Given the description of an element on the screen output the (x, y) to click on. 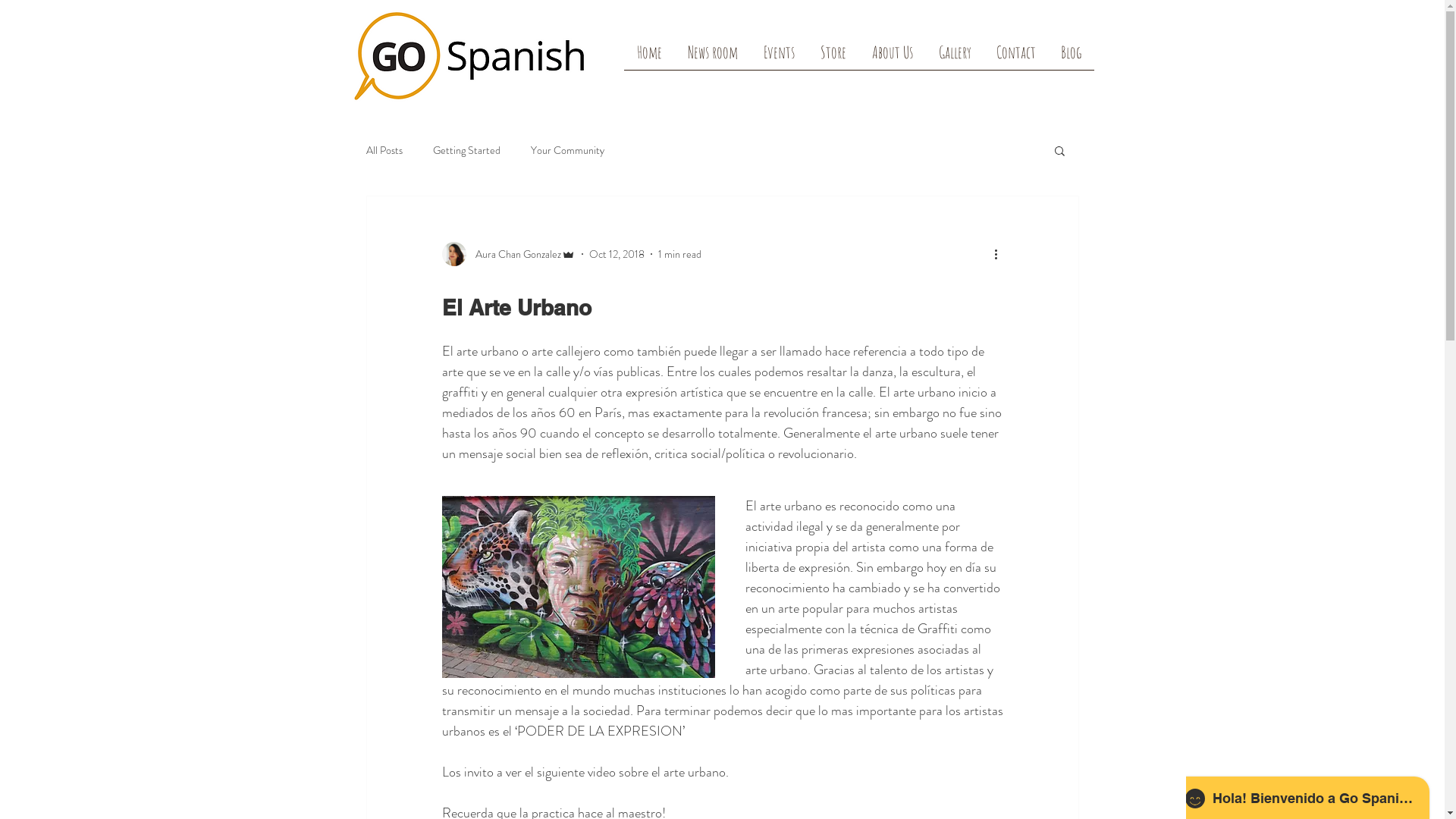
News room Element type: text (712, 56)
Blog Element type: text (1070, 56)
Store Element type: text (832, 56)
Gallery Element type: text (954, 56)
Getting Started Element type: text (465, 149)
Aura Chan Gonzalez Element type: text (507, 253)
Events Element type: text (778, 56)
About Us Element type: text (891, 56)
Home Element type: text (648, 56)
All Posts Element type: text (383, 149)
Your Community Element type: text (567, 149)
Contact Element type: text (1016, 56)
